Given the description of an element on the screen output the (x, y) to click on. 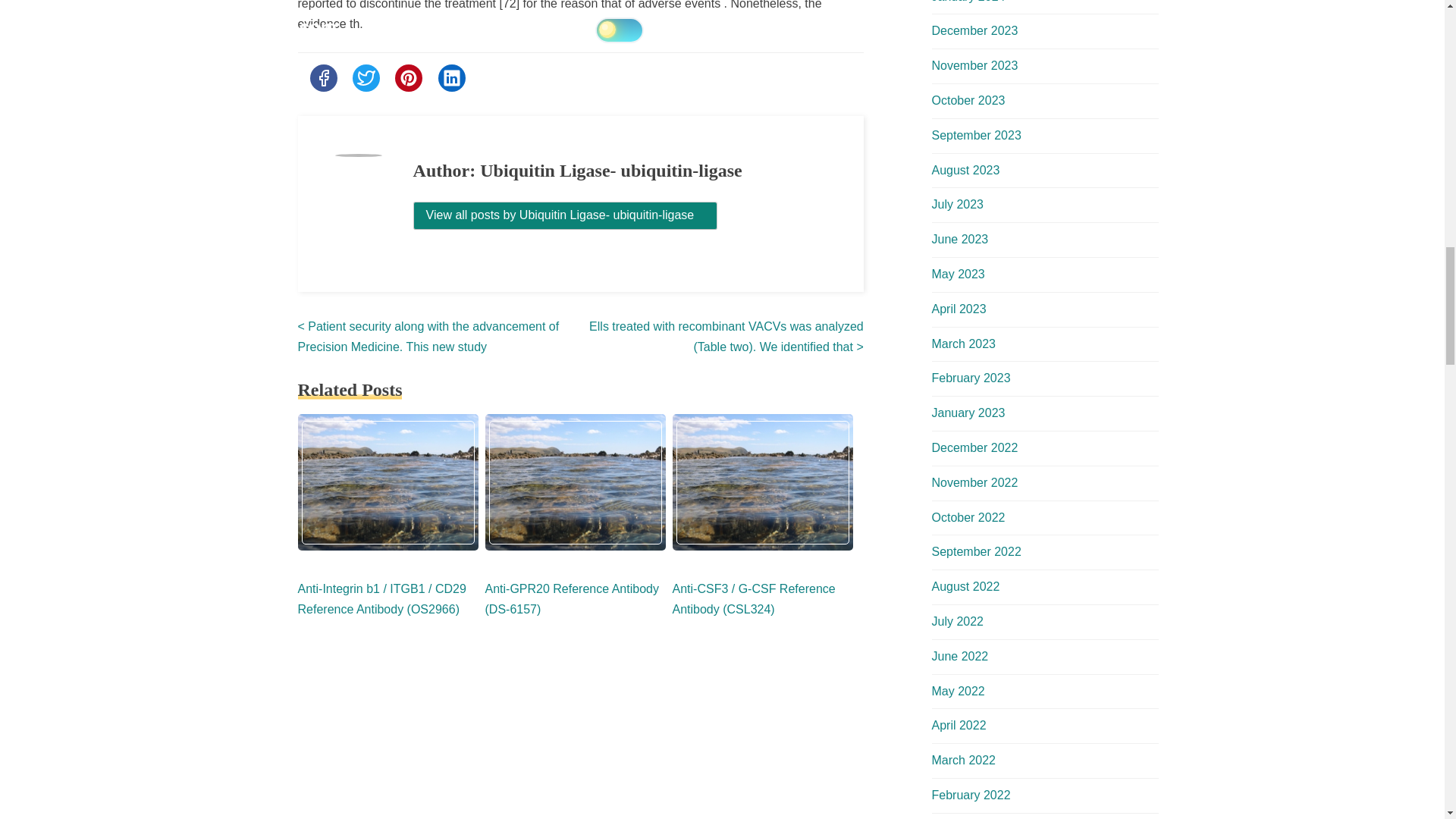
View all posts by Ubiquitin Ligase- ubiquitin-ligase (565, 214)
Share this post on Twitter (366, 77)
Share this post on Facebook (322, 77)
Share this post on Pinterest (408, 77)
Share this post on Linkedin (451, 77)
View all posts by Ubiquitin Ligase- ubiquitin-ligase (565, 215)
